Given the description of an element on the screen output the (x, y) to click on. 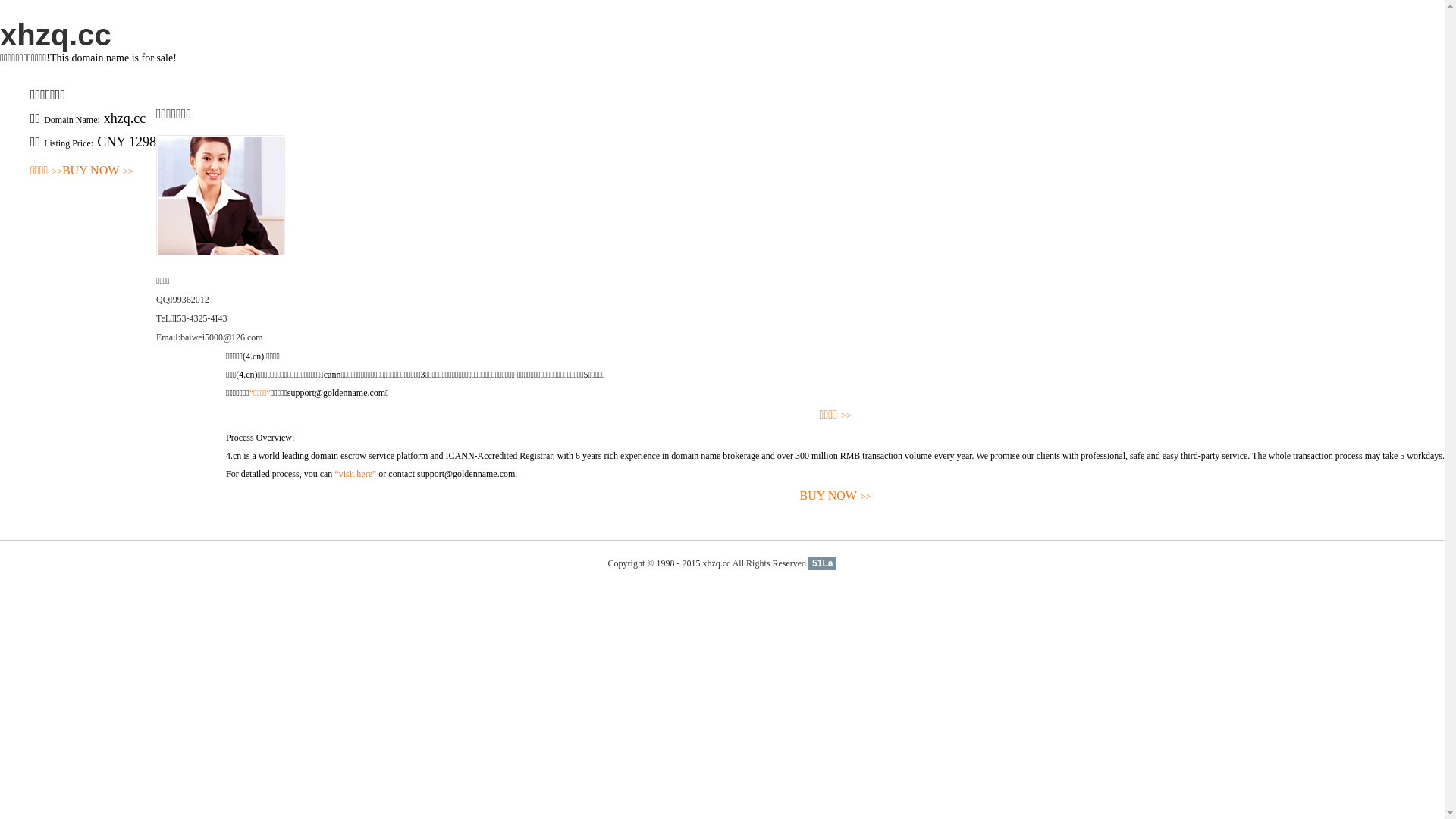
BUY NOW>> Element type: text (834, 496)
51La Element type: text (822, 563)
BUY NOW>> Element type: text (97, 170)
